Given the description of an element on the screen output the (x, y) to click on. 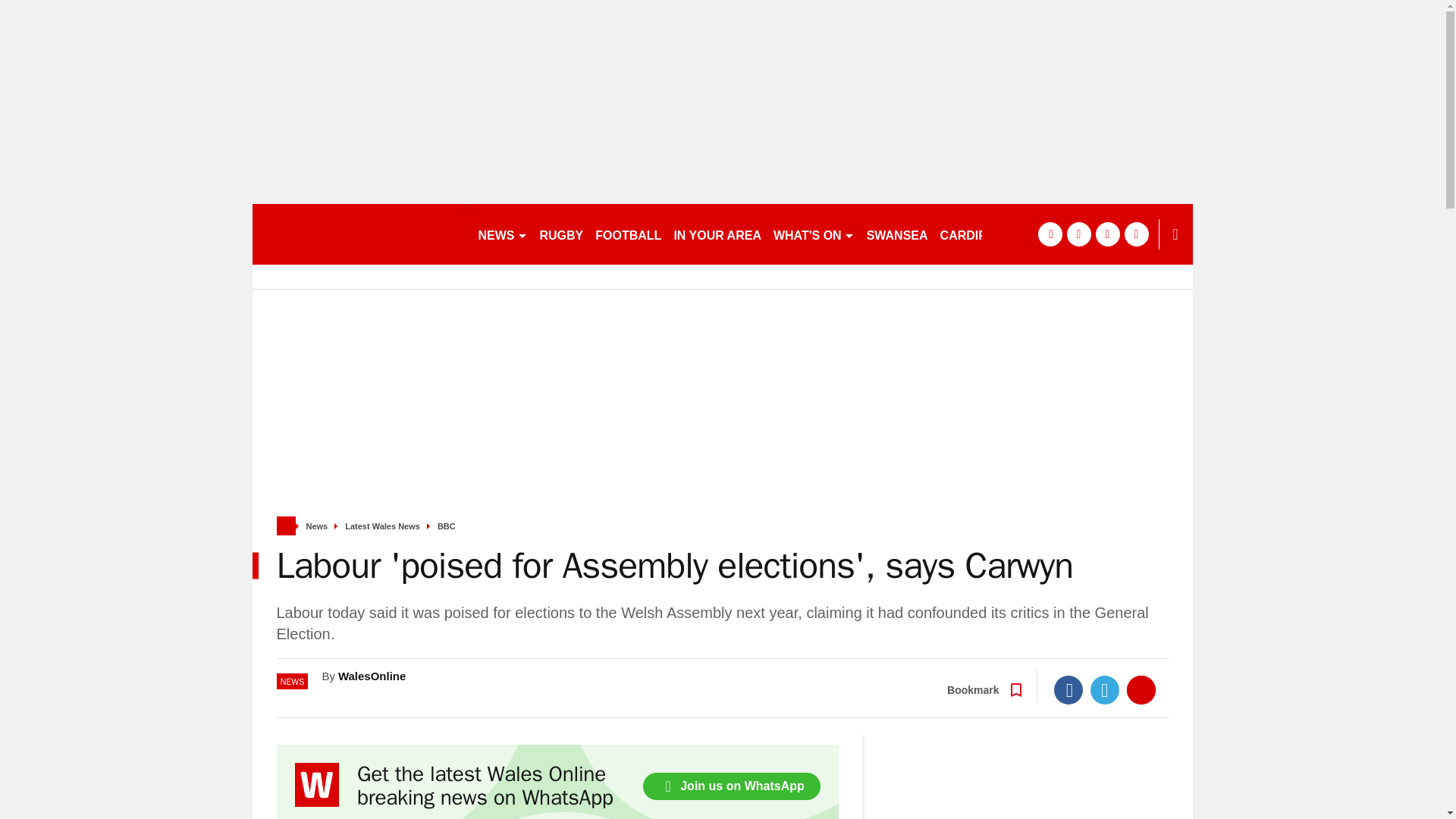
IN YOUR AREA (716, 233)
FOOTBALL (627, 233)
SWANSEA (897, 233)
Twitter (1104, 689)
WHAT'S ON (813, 233)
NEWS (501, 233)
instagram (1136, 233)
facebook (1048, 233)
pinterest (1106, 233)
twitter (1077, 233)
RUGBY (561, 233)
walesonline (357, 233)
Facebook (1068, 689)
